Given the description of an element on the screen output the (x, y) to click on. 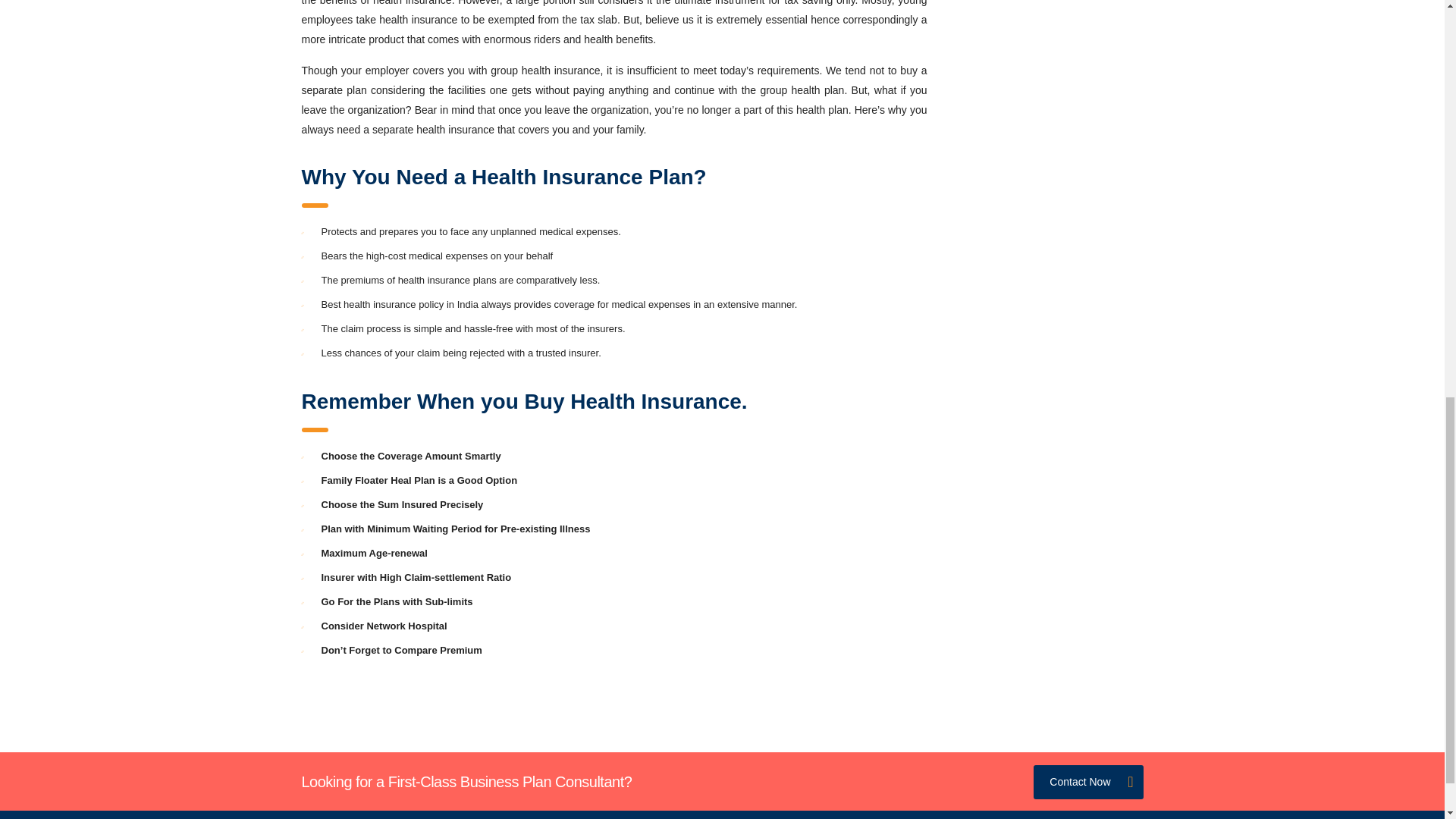
Looking for a First-Class Business Plan Consultant? (466, 781)
Contact Now (1087, 781)
